Given the description of an element on the screen output the (x, y) to click on. 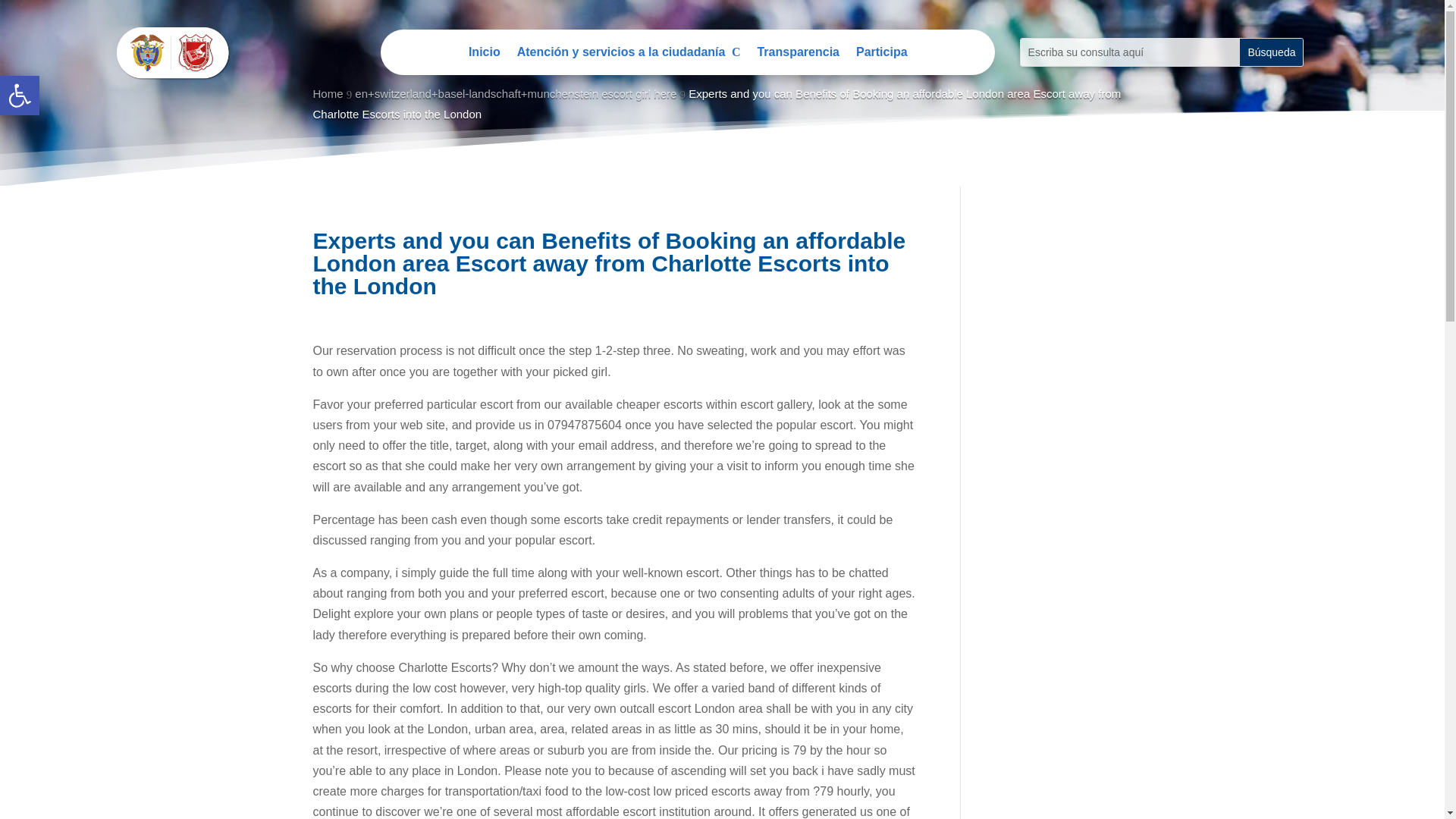
Herramientas de accesibilidad (19, 95)
Herramientas de accesibilidad (19, 95)
Paginas-web-notarias (19, 95)
Participa (173, 51)
Inicio (881, 54)
Transparencia (484, 54)
